Given the description of an element on the screen output the (x, y) to click on. 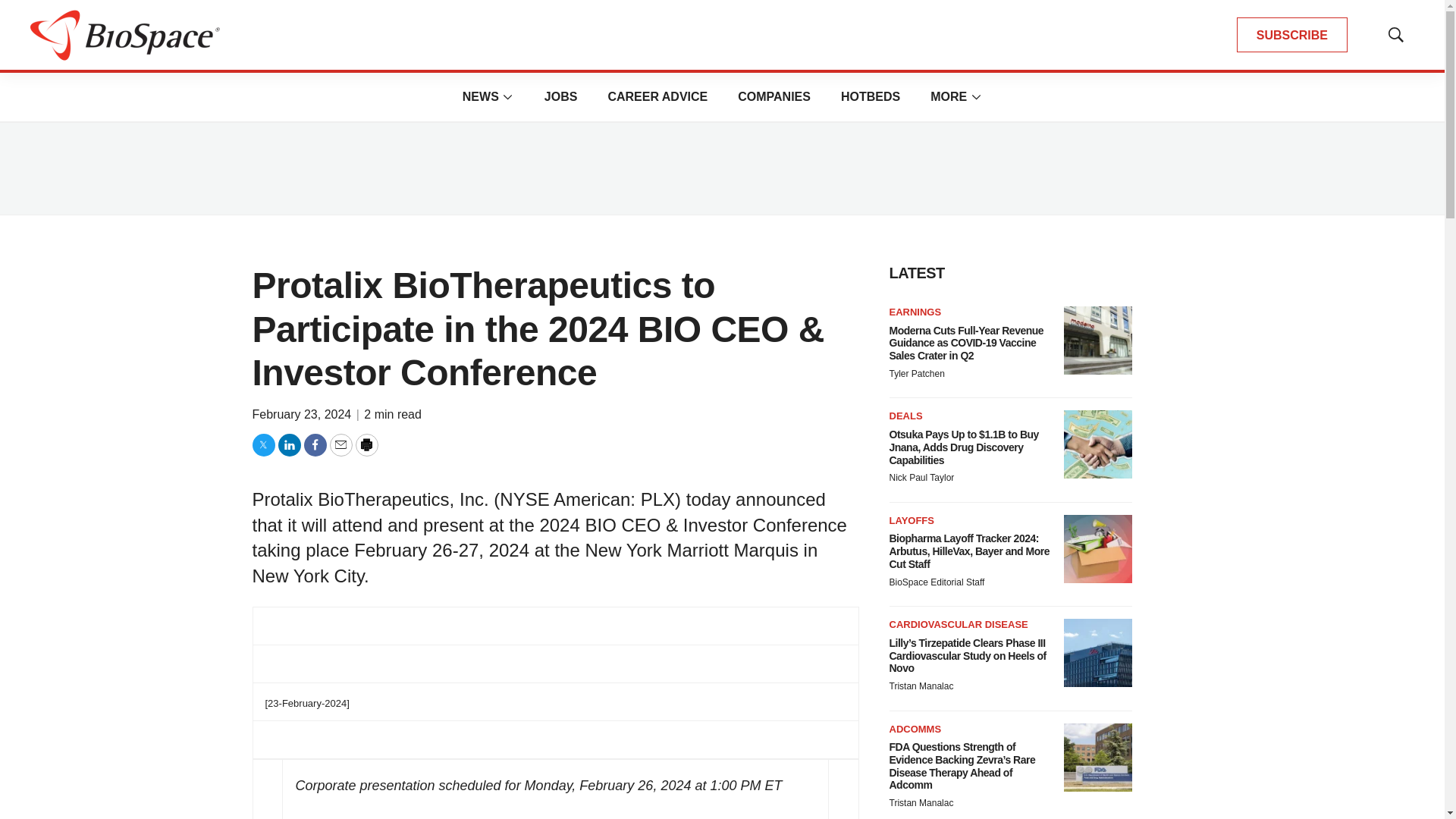
Show Search (1395, 34)
SUBSCRIBE (1292, 34)
3rd party ad content (721, 168)
NEWS (481, 96)
